Given the description of an element on the screen output the (x, y) to click on. 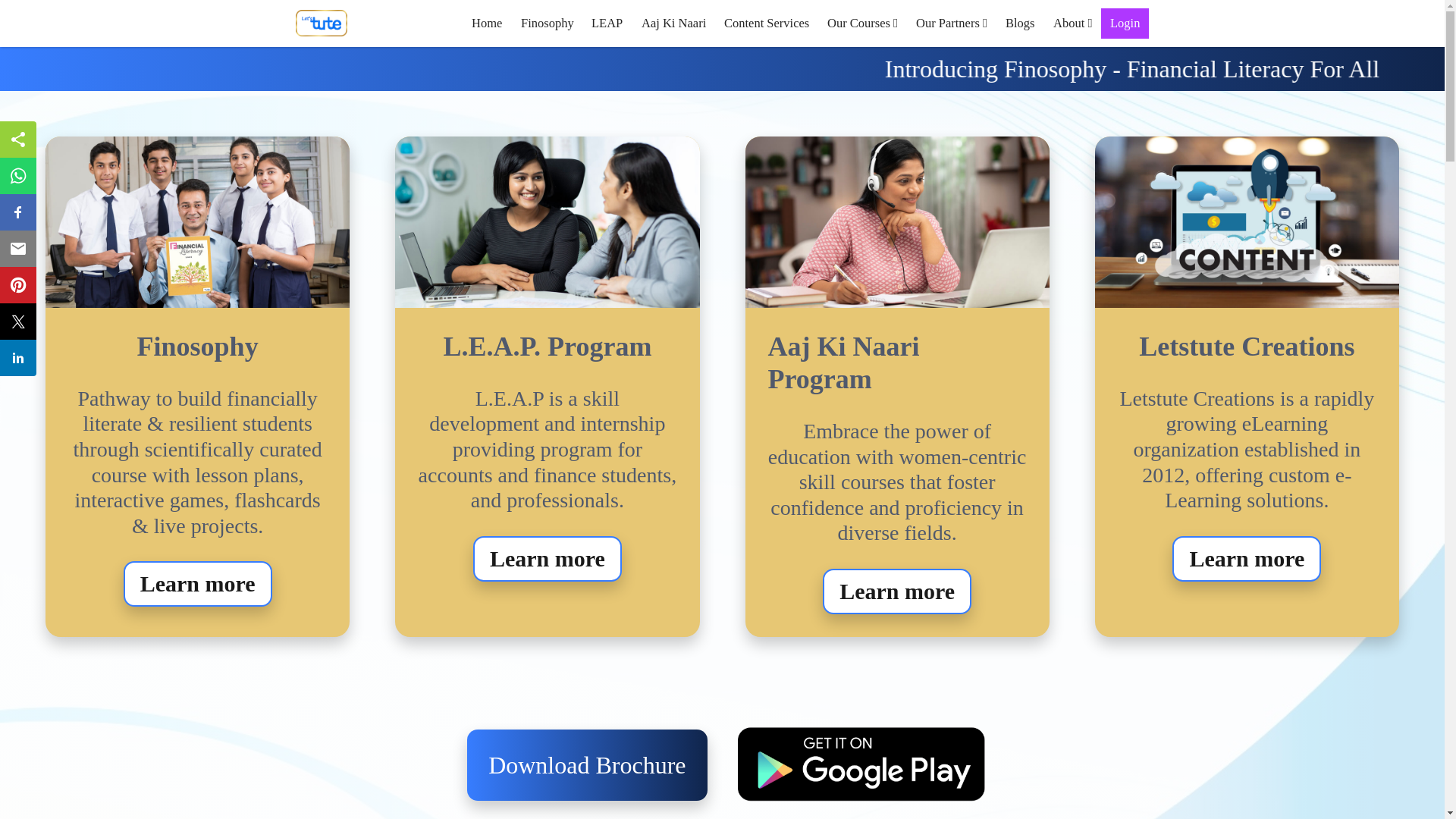
Aaj Ki Naari (672, 23)
Our Courses (862, 23)
Home (487, 23)
Introducing Finosophy - Financial Literacy For All (722, 68)
Content Services (766, 23)
Finosophy (547, 23)
Bewise Classes (321, 22)
LEAP (606, 23)
